Given the description of an element on the screen output the (x, y) to click on. 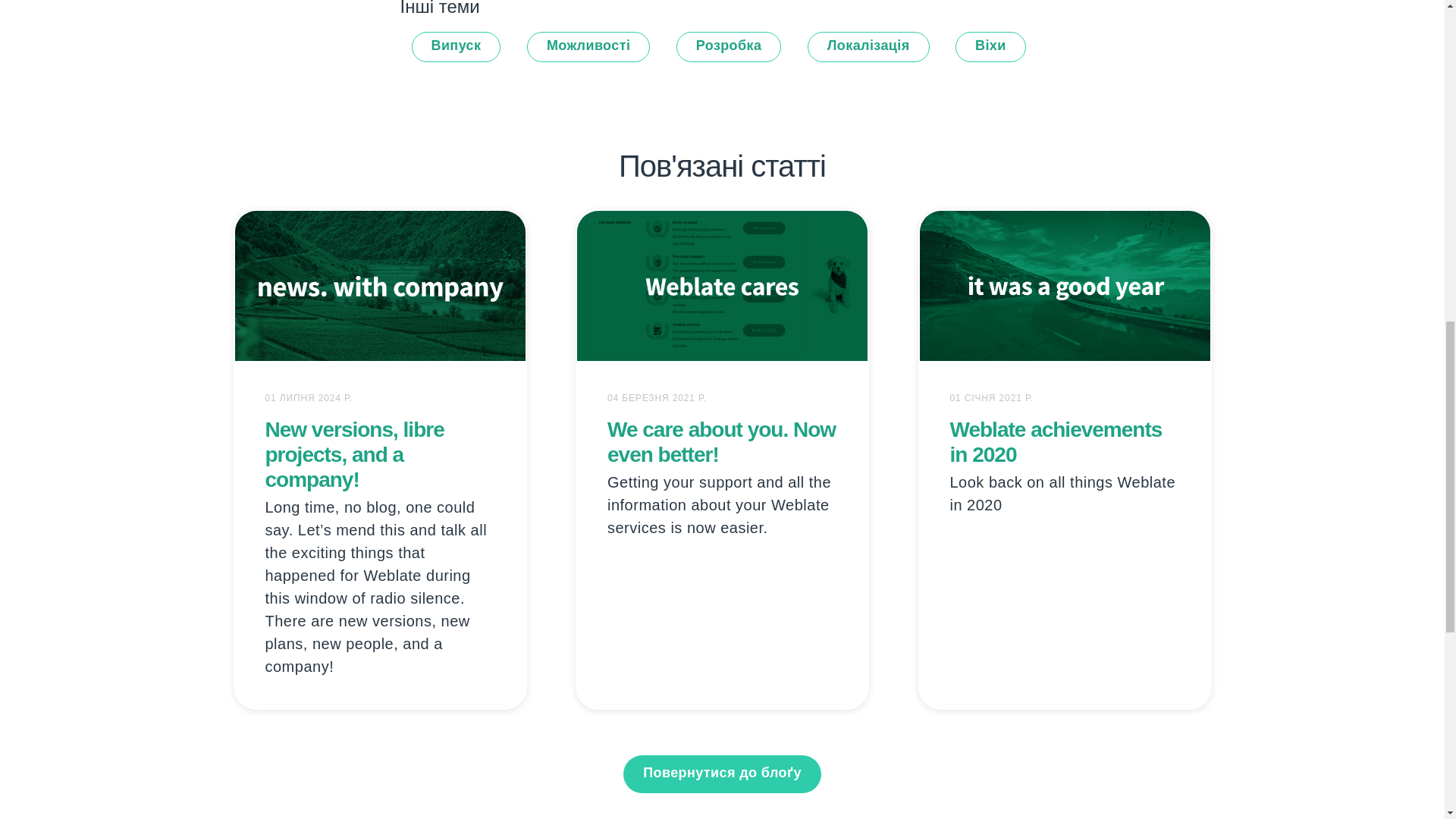
Weblate achievements in 2020 (1055, 441)
We care about you. Now even better! (721, 441)
New versions, libre projects, and a company! (354, 454)
